Given the description of an element on the screen output the (x, y) to click on. 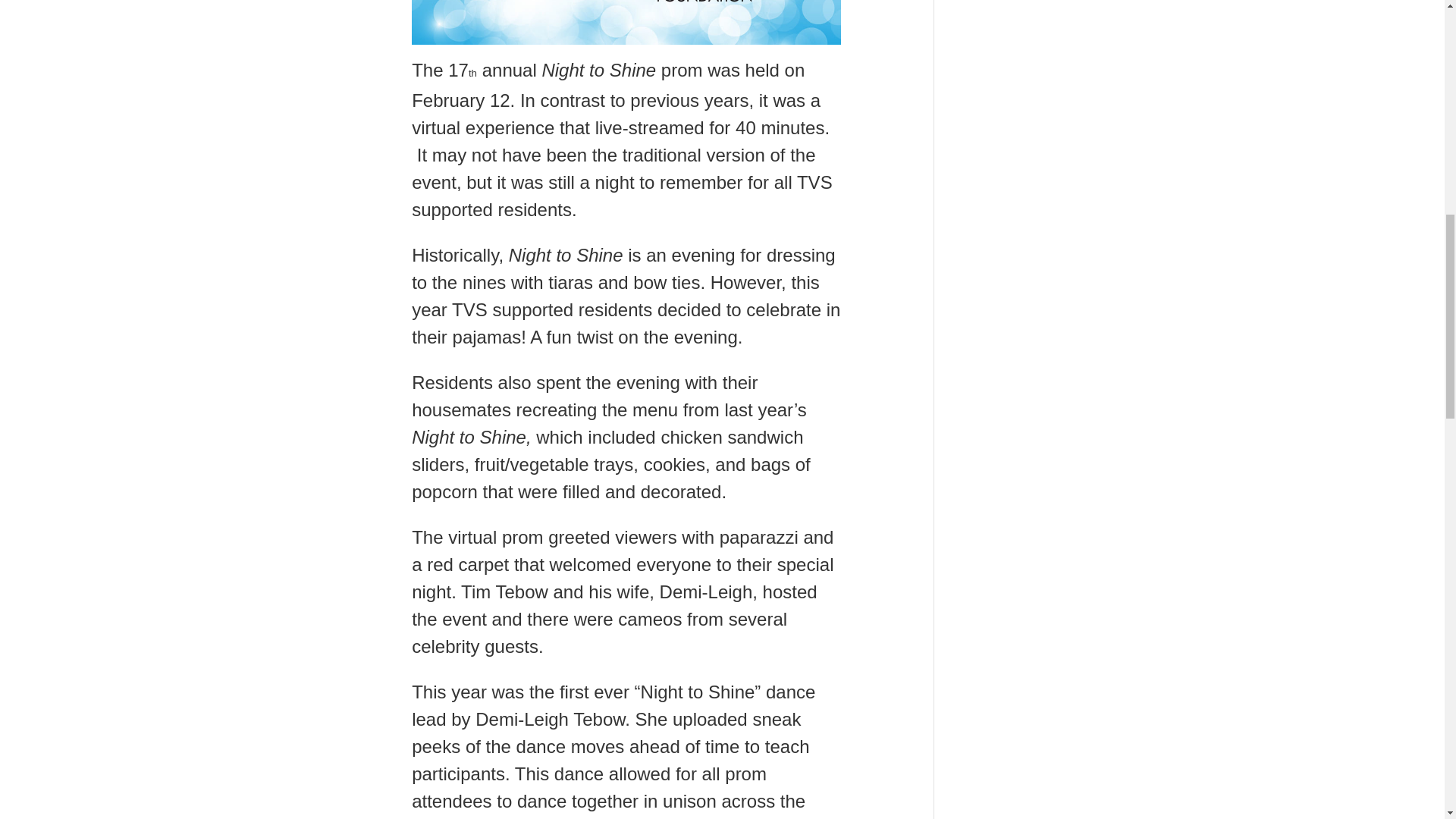
nighttoshine (626, 22)
